Given the description of an element on the screen output the (x, y) to click on. 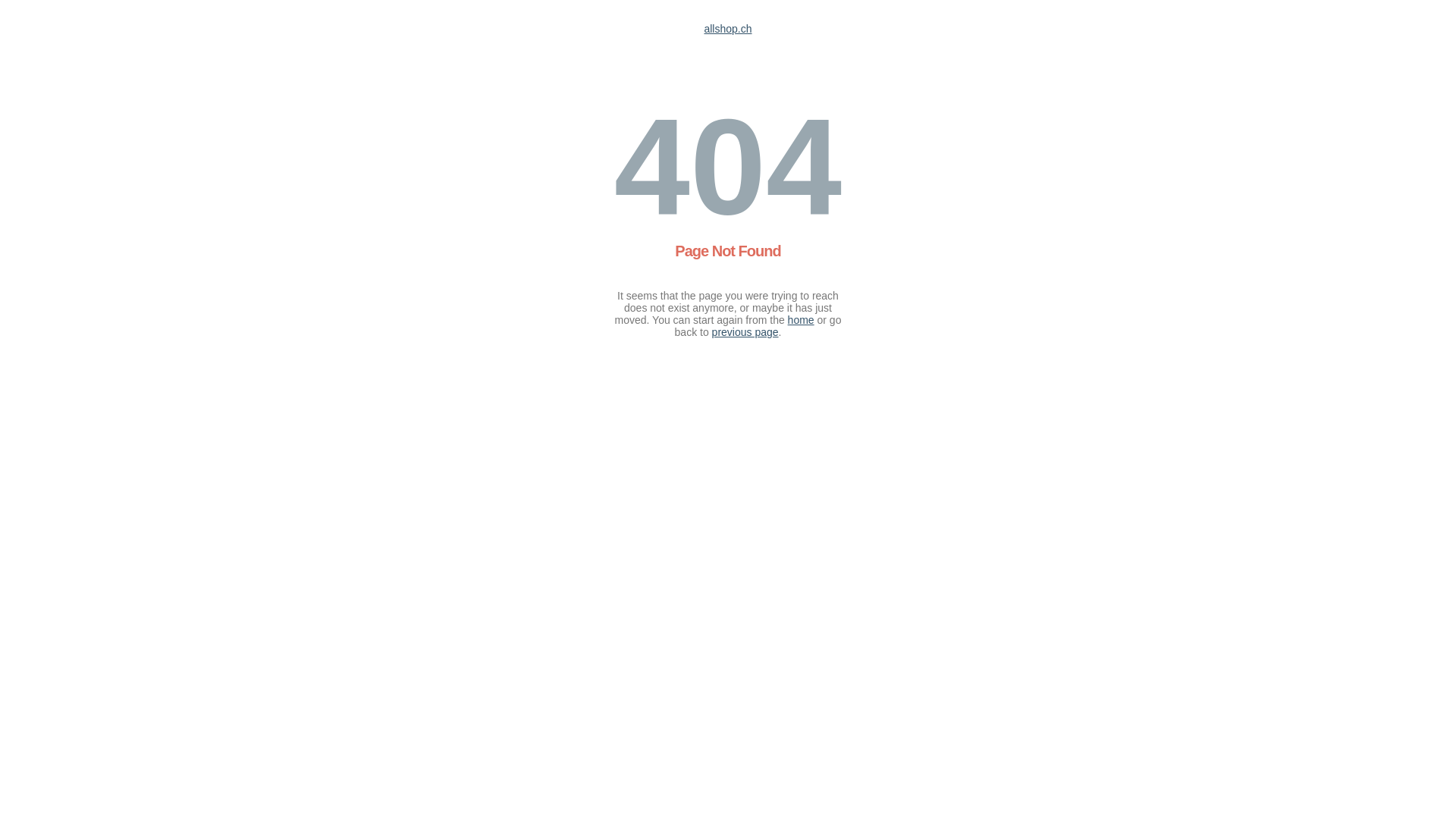
allshop.ch Element type: text (727, 28)
previous page Element type: text (745, 332)
home Element type: text (800, 319)
